Given the description of an element on the screen output the (x, y) to click on. 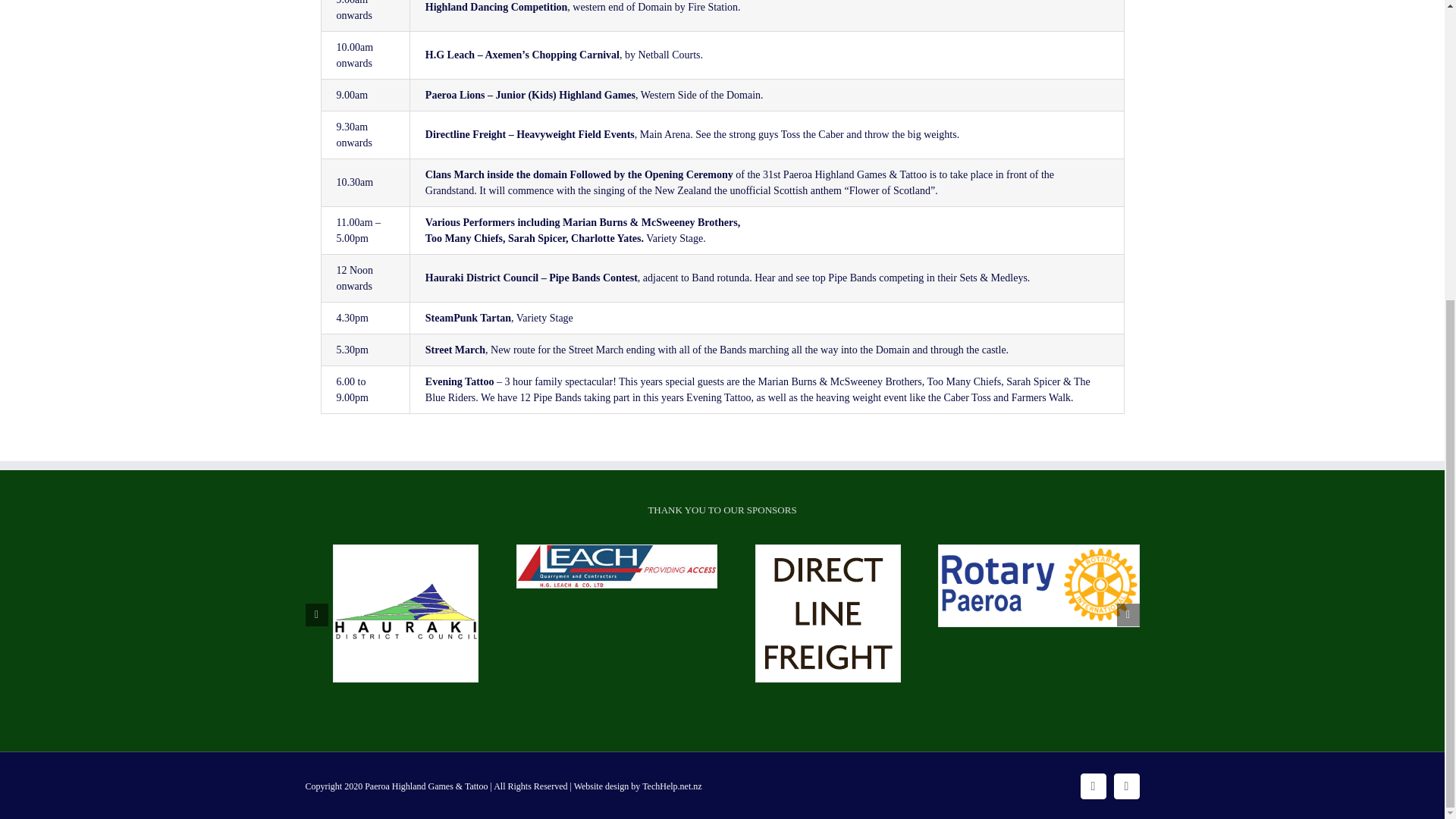
Facebook (1092, 786)
Instagram (1125, 786)
TechHelp.net.nz (671, 786)
Instagram (1125, 786)
Facebook (1092, 786)
